Given the description of an element on the screen output the (x, y) to click on. 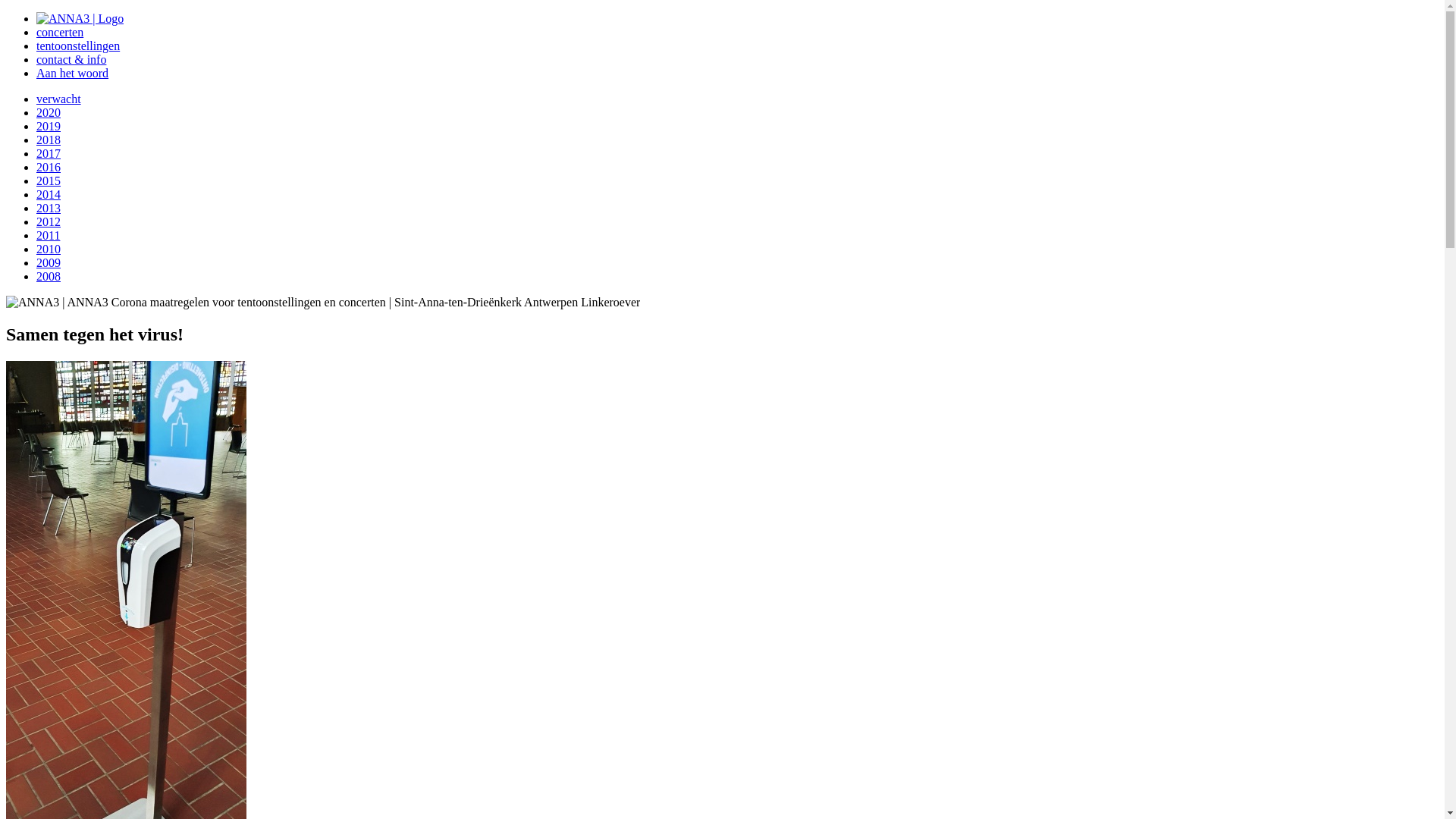
2016 Element type: text (48, 166)
Aan het woord Element type: text (72, 72)
2009 Element type: text (48, 262)
2015 Element type: text (48, 180)
verwacht Element type: text (58, 98)
contact & info Element type: text (71, 59)
2010 Element type: text (48, 248)
2013 Element type: text (48, 207)
2018 Element type: text (48, 139)
2011 Element type: text (47, 235)
2017 Element type: text (48, 153)
2020 Element type: text (48, 112)
2019 Element type: text (48, 125)
2014 Element type: text (48, 194)
tentoonstellingen Element type: text (77, 45)
2008 Element type: text (48, 275)
concerten Element type: text (59, 31)
2012 Element type: text (48, 221)
